Given the description of an element on the screen output the (x, y) to click on. 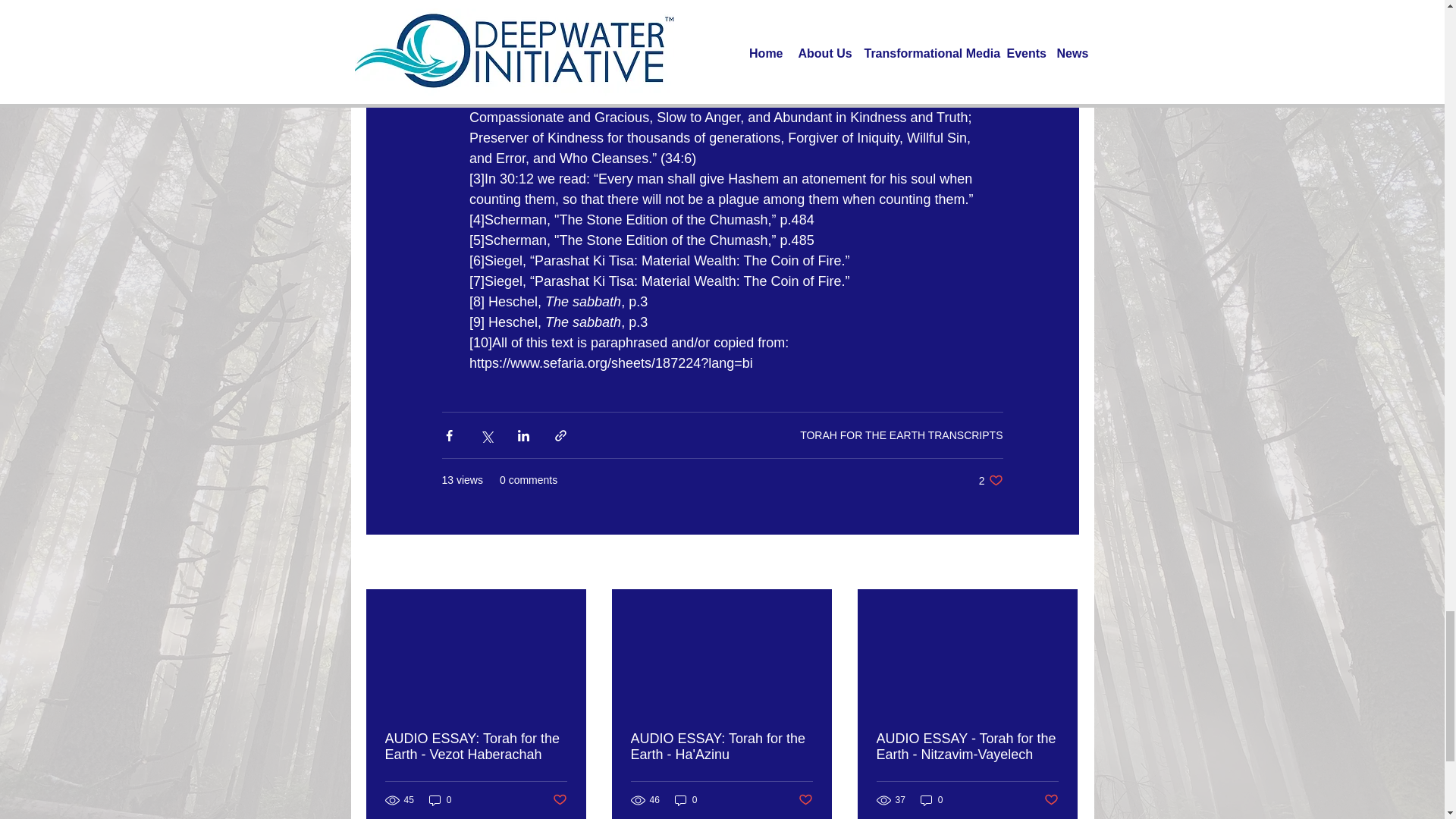
Post not marked as liked (990, 480)
TORAH FOR THE EARTH TRANSCRIPTS (1050, 799)
AUDIO ESSAY - Torah for the Earth - Nitzavim-Vayelech (901, 435)
0 (967, 746)
0 (440, 800)
Post not marked as liked (685, 800)
AUDIO ESSAY: Torah for the Earth - Ha'Azinu (804, 799)
Post not marked as liked (721, 746)
AUDIO ESSAY: Torah for the Earth - Vezot Haberachah (558, 799)
0 (476, 746)
See All (931, 800)
